Given the description of an element on the screen output the (x, y) to click on. 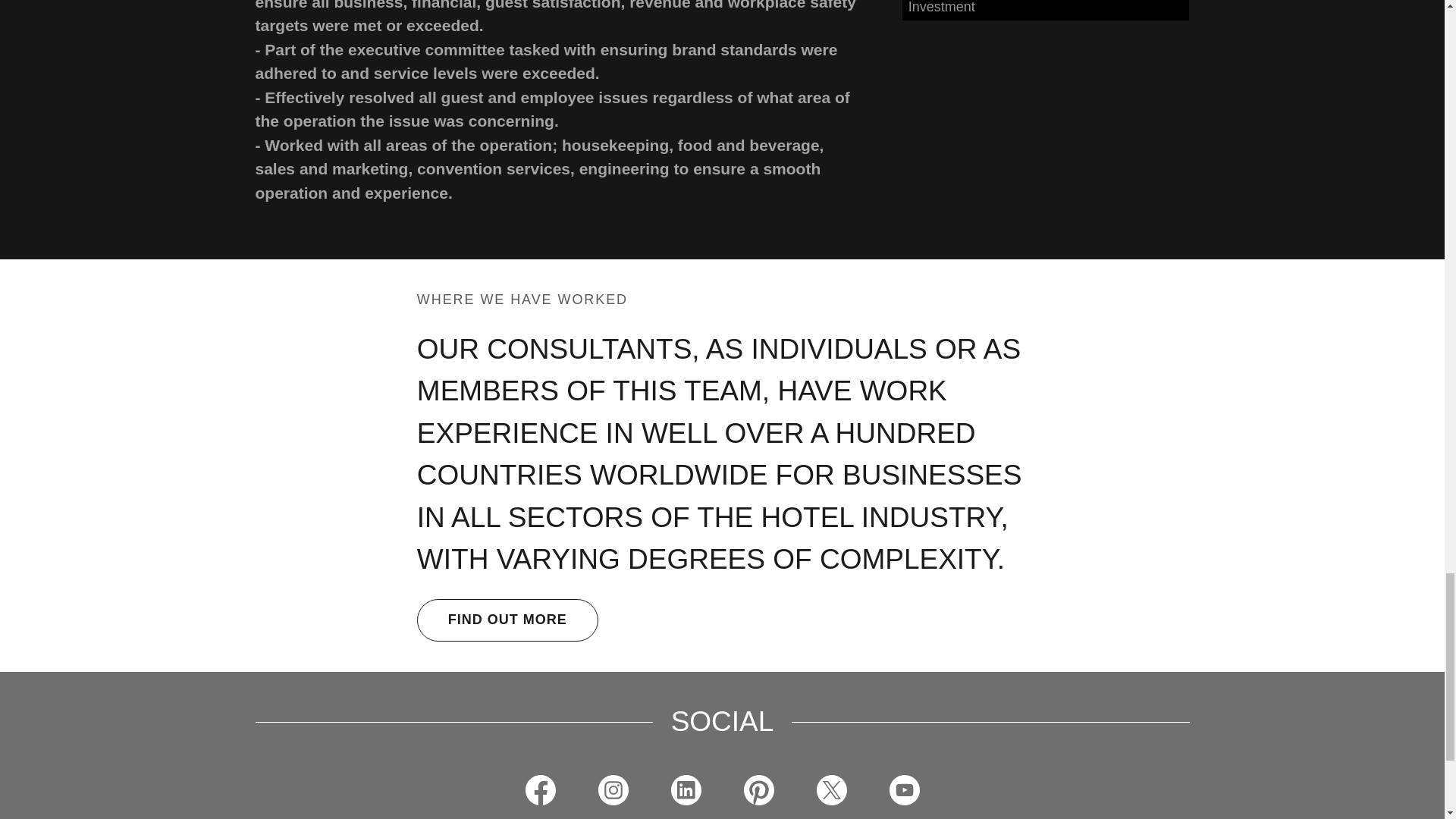
FIND OUT MORE (507, 619)
